Given the description of an element on the screen output the (x, y) to click on. 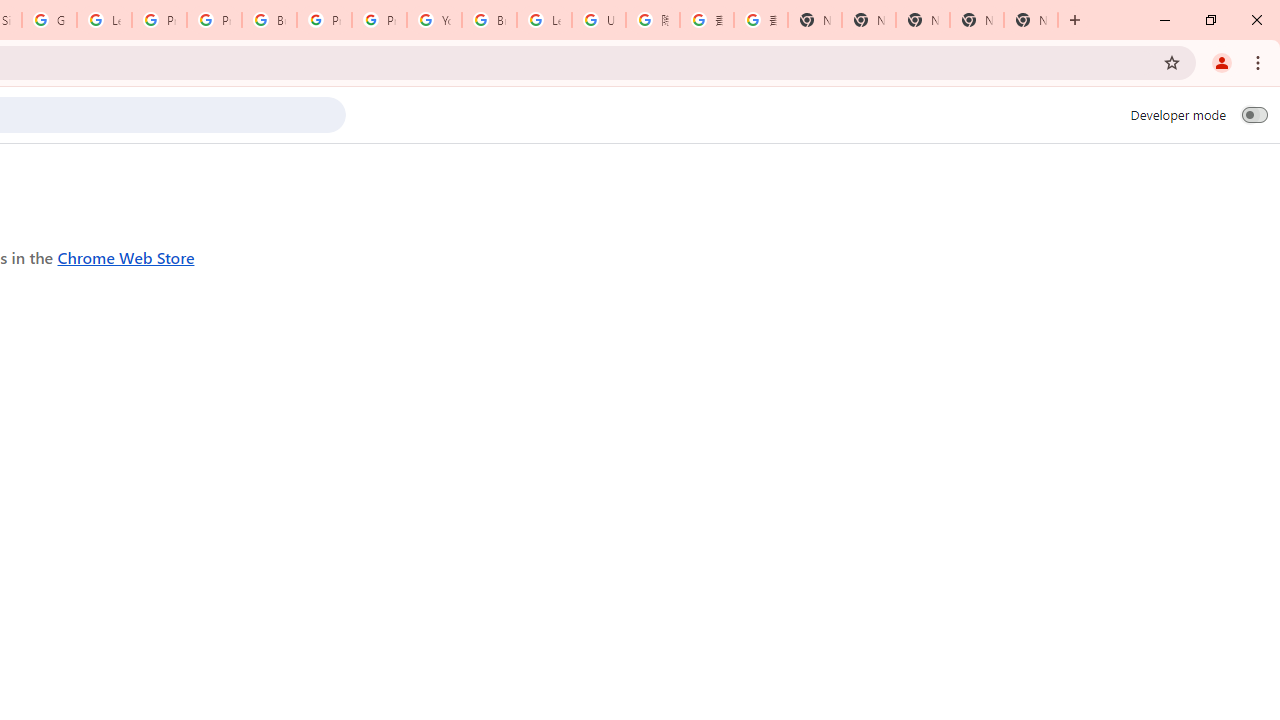
Chrome Web Store (125, 256)
Privacy Help Center - Policies Help (213, 20)
New Tab (815, 20)
